Given the description of an element on the screen output the (x, y) to click on. 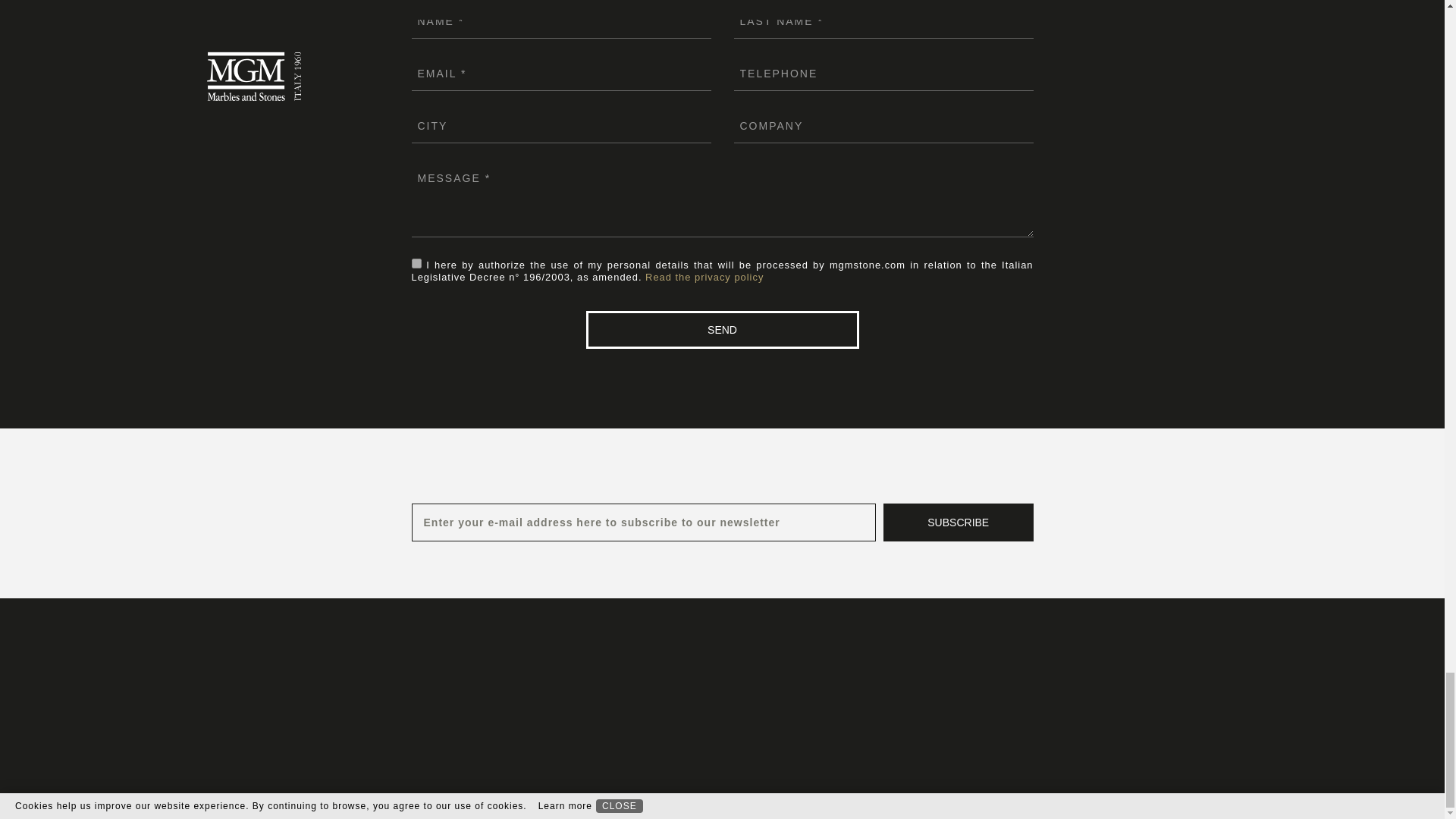
SEND (722, 329)
Read the privacy policy (703, 276)
on (415, 263)
SUBSCRIBE (958, 522)
